Given the description of an element on the screen output the (x, y) to click on. 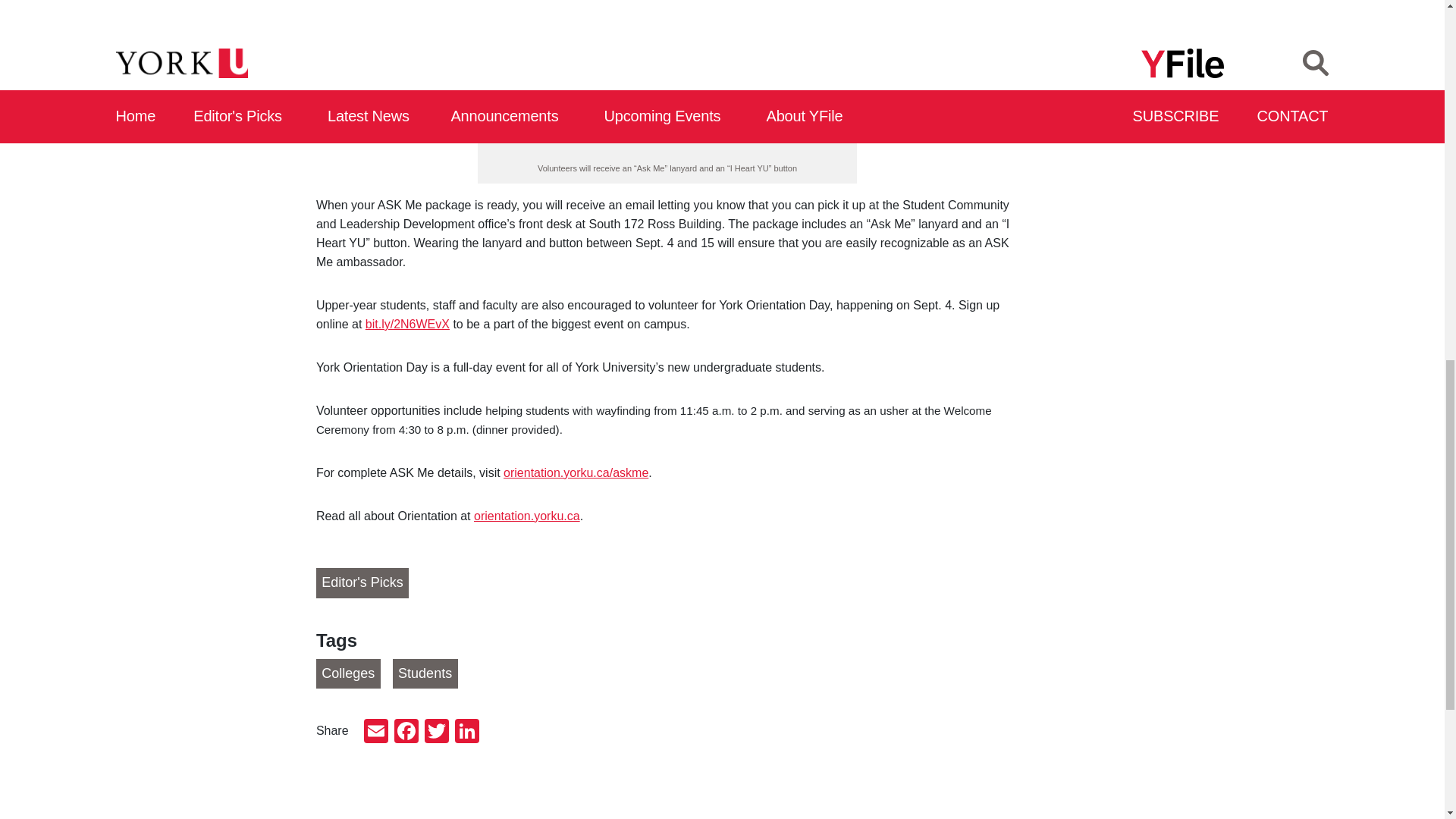
Email (376, 732)
orientation.yorku.ca (526, 515)
online form (616, 97)
Editor's Picks (362, 583)
Facebook (406, 732)
LinkedIn (466, 732)
Twitter (436, 732)
Colleges (347, 674)
